Given the description of an element on the screen output the (x, y) to click on. 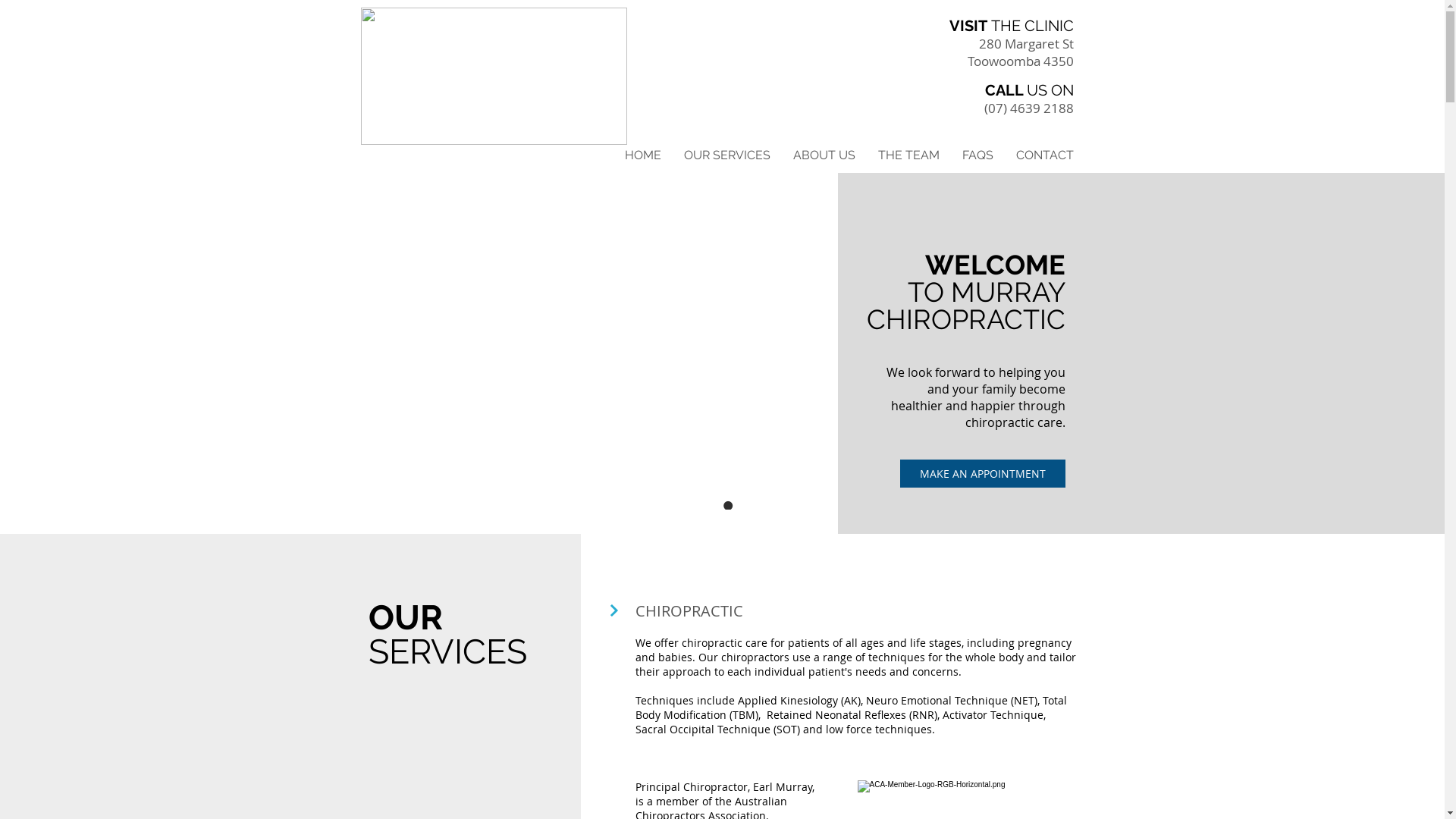
FAQS Element type: text (977, 154)
ABOUT US Element type: text (823, 154)
THE TEAM Element type: text (908, 154)
HOME Element type: text (641, 154)
MAKE AN APPOINTMENT Element type: text (981, 473)
CONTACT Element type: text (1044, 154)
OUR SERVICES Element type: text (726, 154)
